Given the description of an element on the screen output the (x, y) to click on. 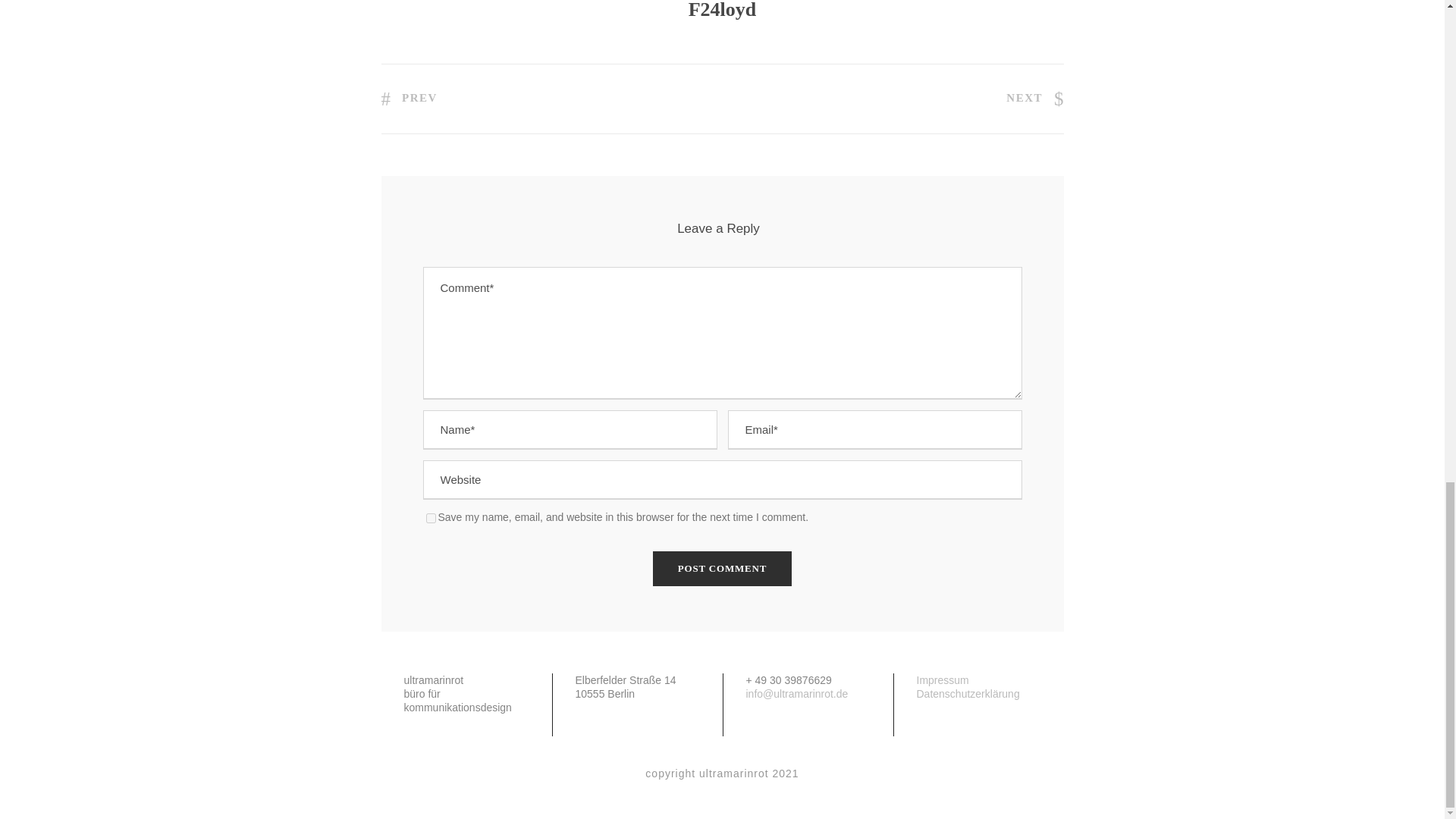
NEXT (1034, 97)
Post Comment (722, 568)
F24loyd (722, 10)
PREV (408, 97)
yes (430, 518)
Post Comment (722, 568)
Impressum (941, 680)
